Given the description of an element on the screen output the (x, y) to click on. 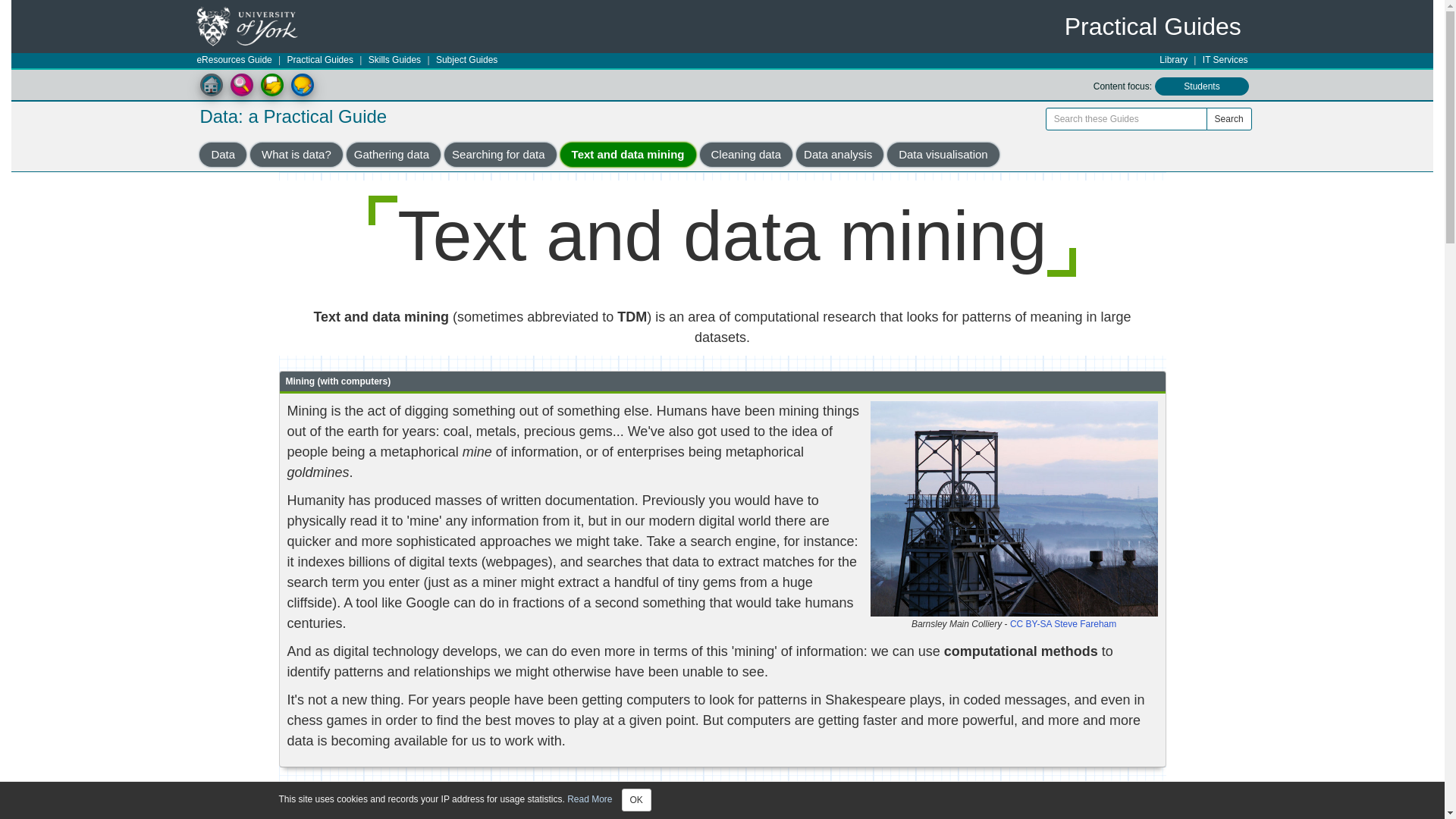
eResources Guide (233, 59)
OK (635, 799)
Data (222, 154)
Gathering data (393, 154)
Subject Guides (466, 59)
Subject Guides (466, 59)
Practical Guides (319, 59)
Skills Guides Home (211, 84)
IT Services (1225, 59)
IT Services (1225, 59)
Library (1173, 59)
Search (1229, 118)
Cleaning data (746, 154)
Read More (589, 798)
